Given the description of an element on the screen output the (x, y) to click on. 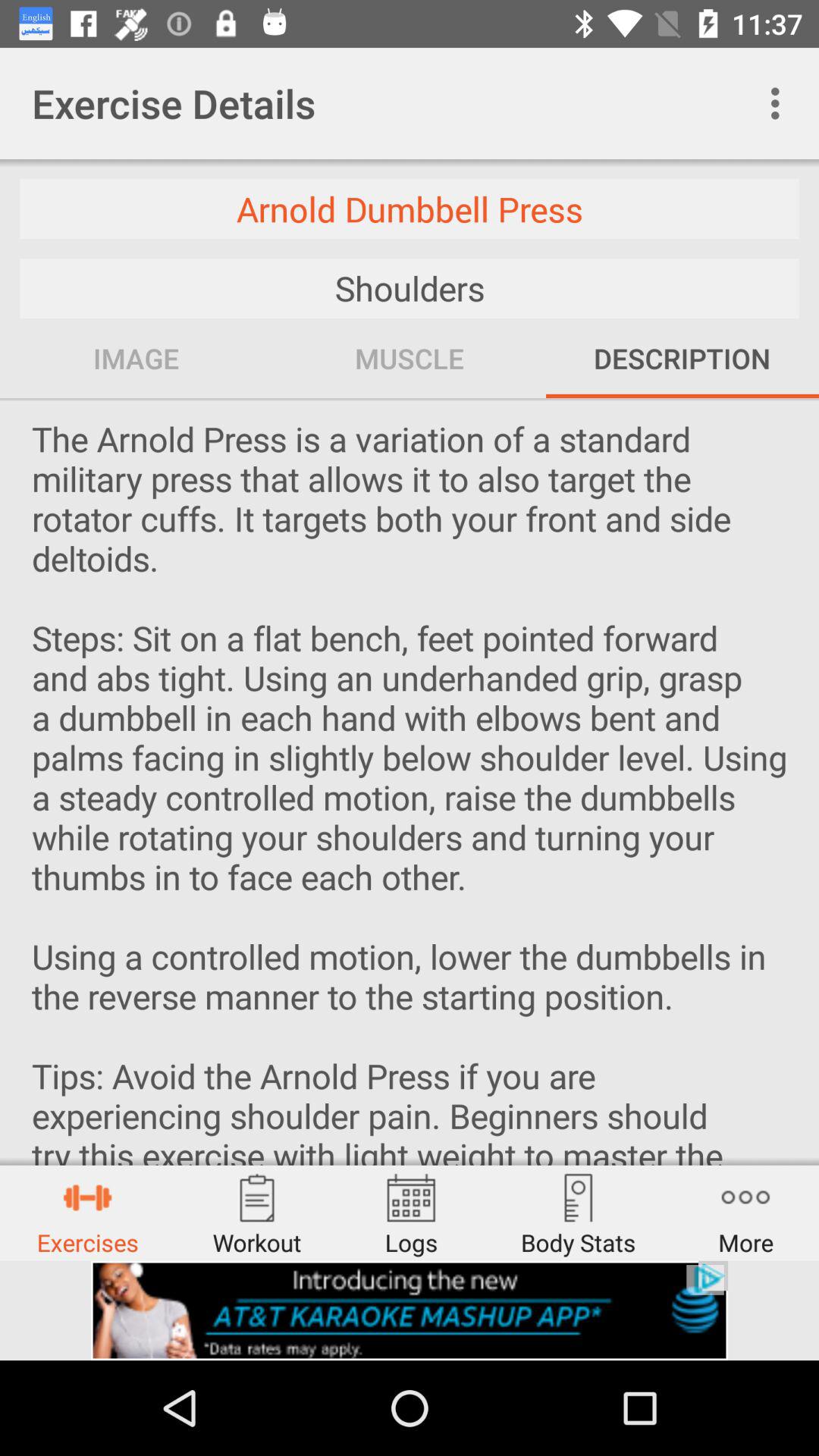
select advertisement (409, 1310)
